Given the description of an element on the screen output the (x, y) to click on. 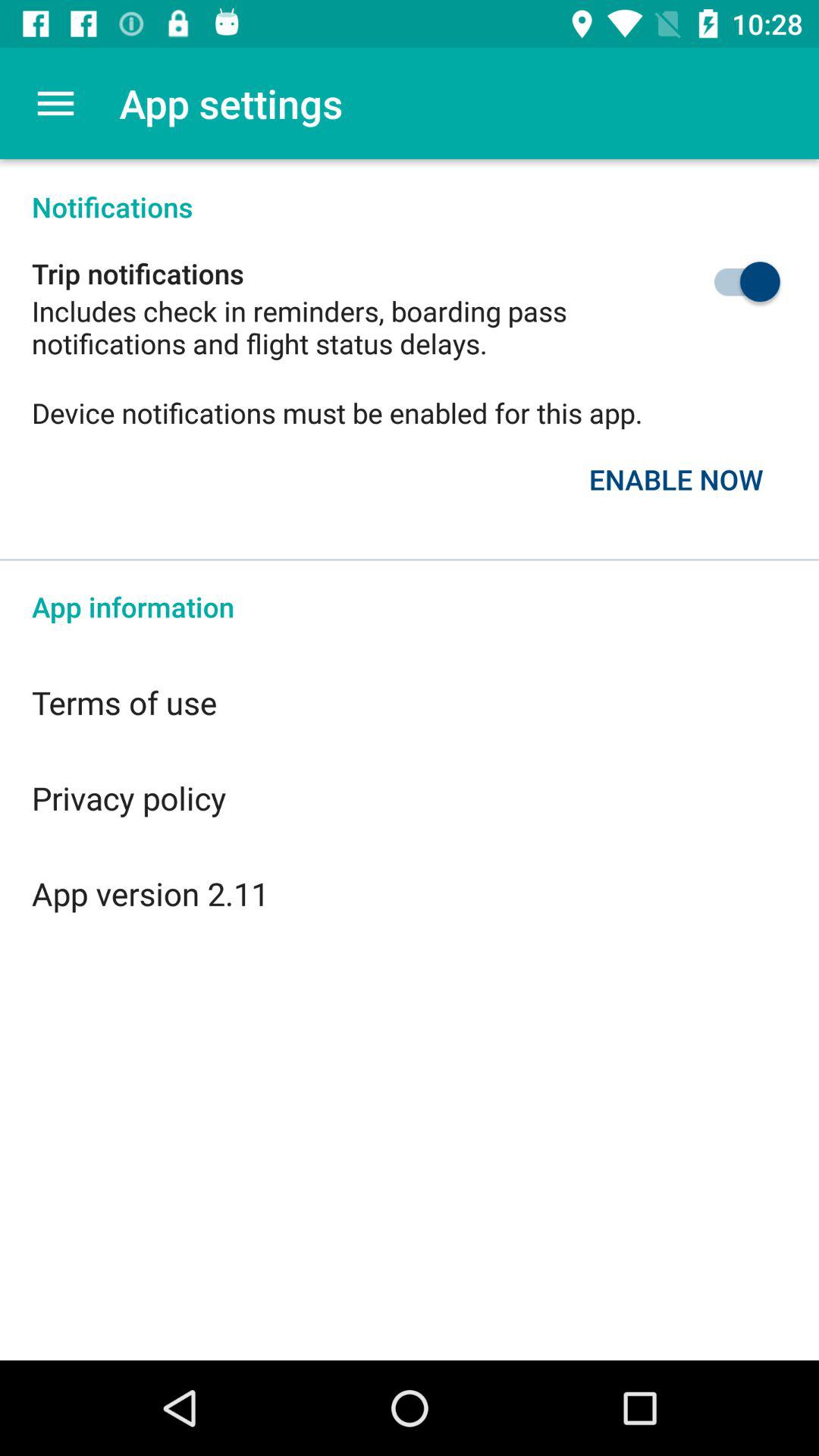
toggle trip notifications (711, 281)
